Given the description of an element on the screen output the (x, y) to click on. 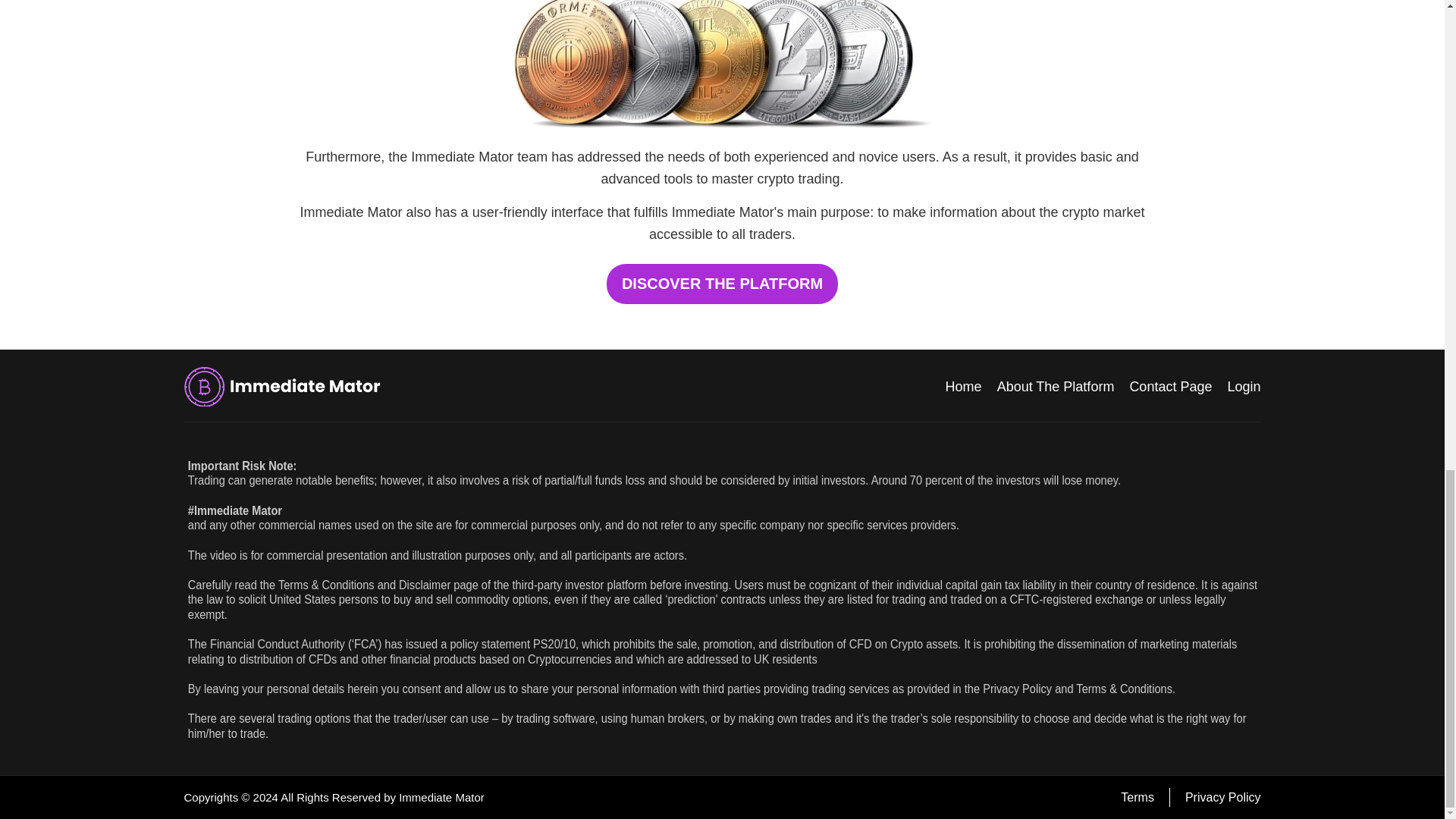
Login (1243, 386)
Terms (1137, 797)
About The Platform (1056, 386)
DISCOVER THE PLATFORM (722, 283)
Contact Page (1170, 386)
Privacy Policy (1222, 797)
Home (962, 386)
